Given the description of an element on the screen output the (x, y) to click on. 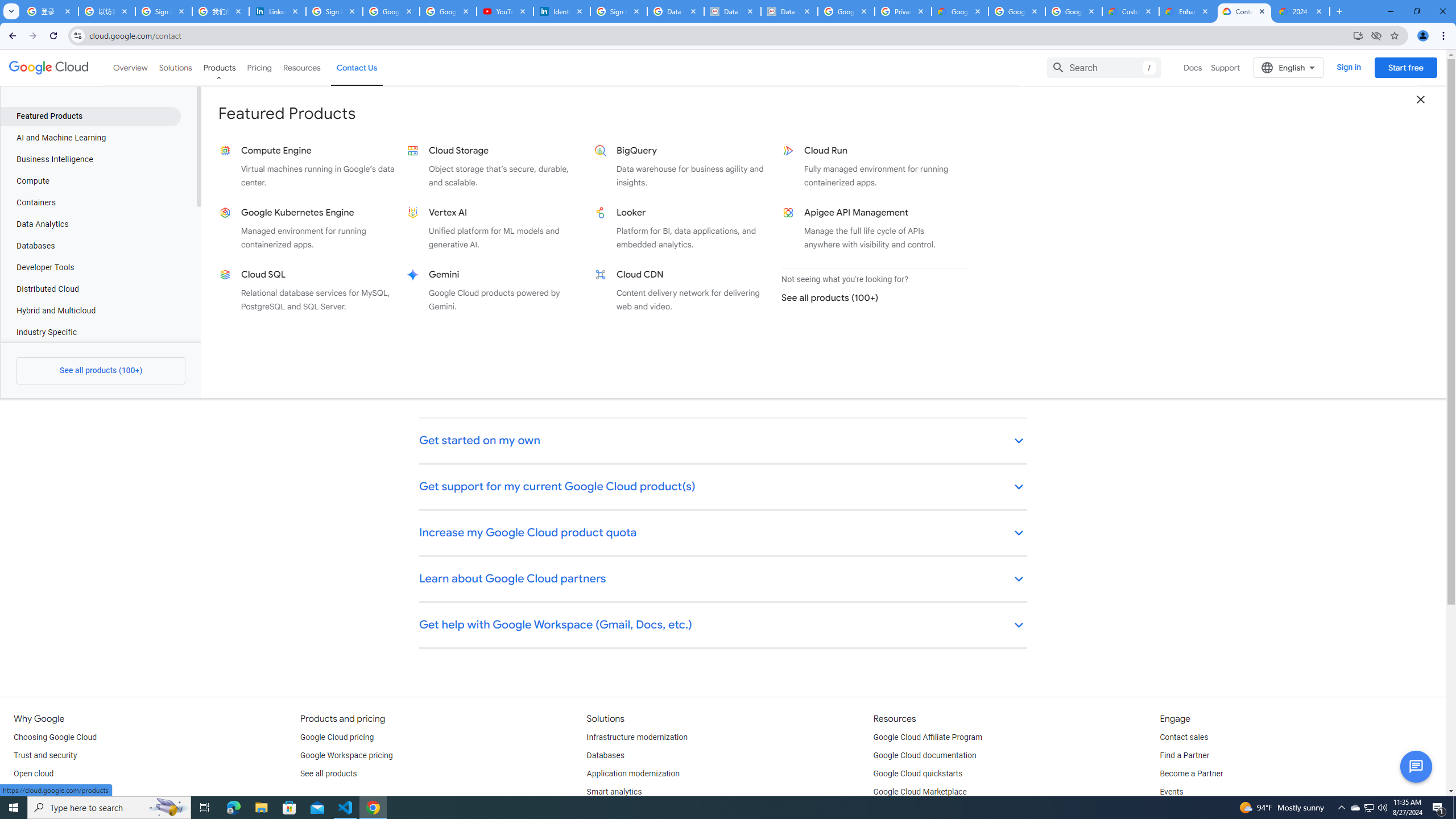
Data Privacy Framework (731, 11)
See all products (100+) (870, 297)
English (1288, 67)
